Given the description of an element on the screen output the (x, y) to click on. 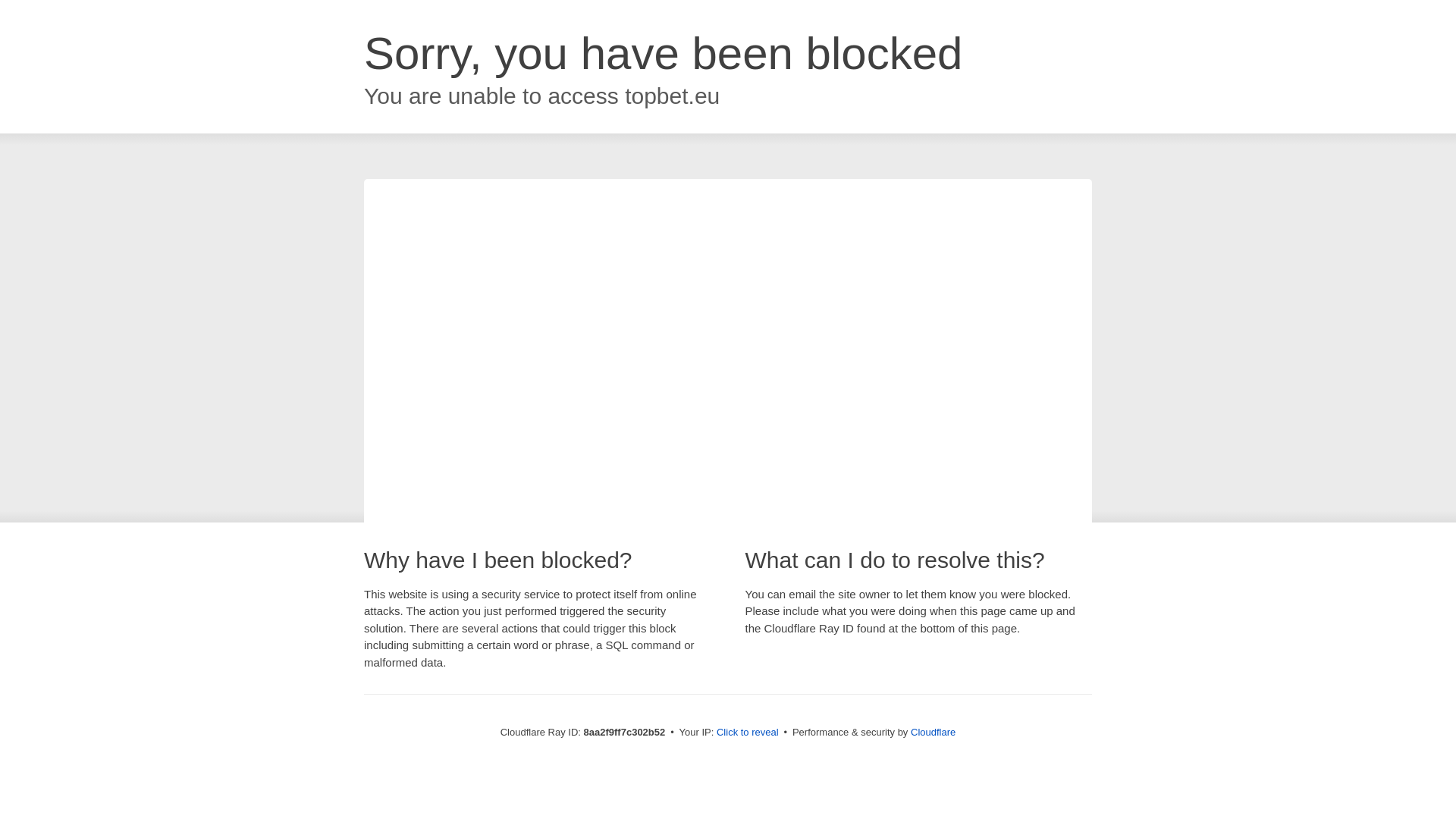
Cloudflare (933, 731)
Click to reveal (747, 732)
